Given the description of an element on the screen output the (x, y) to click on. 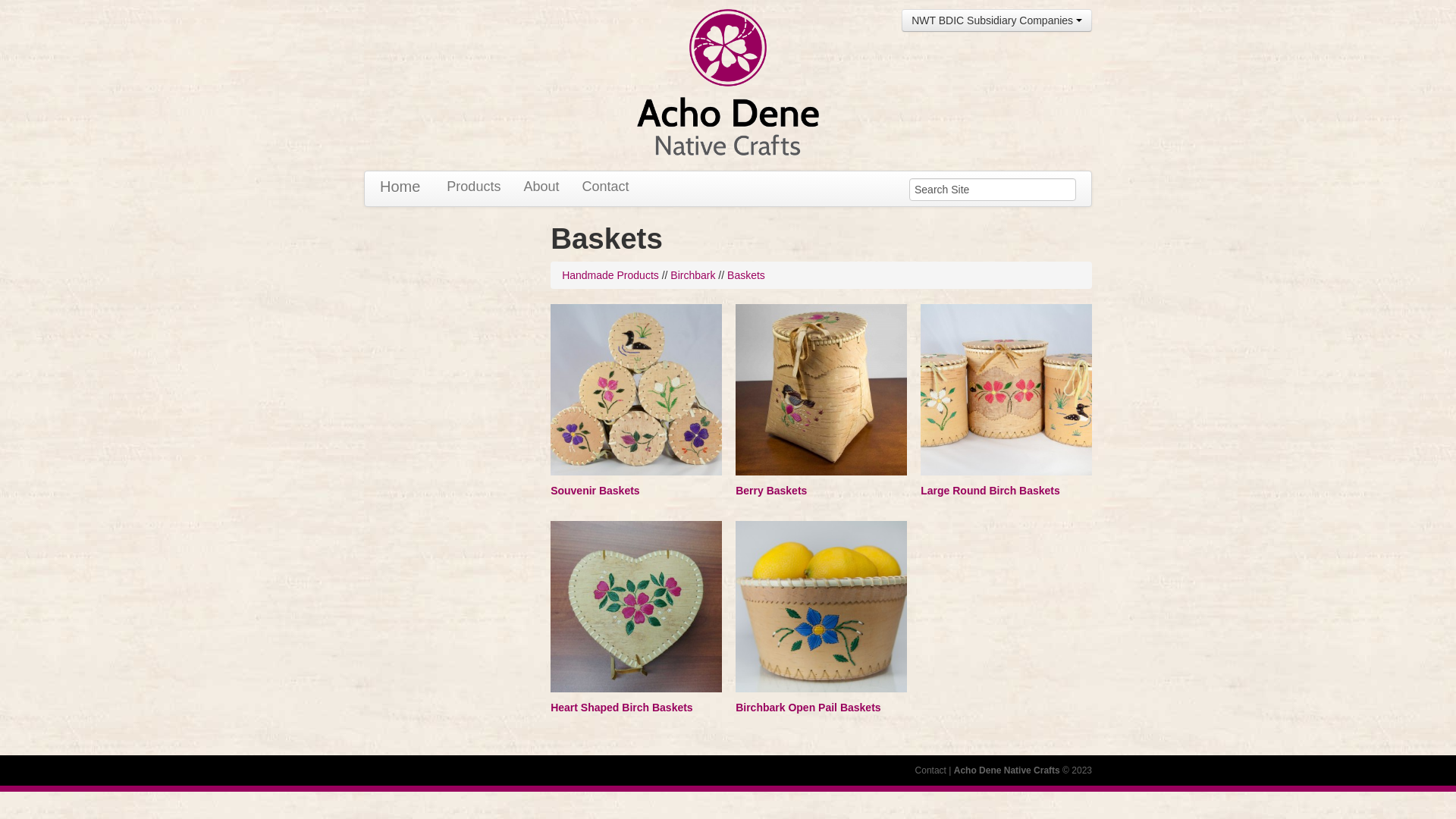
Baskets Element type: text (746, 275)
Contact Element type: text (605, 186)
Souvenir Baskets Element type: text (595, 490)
Large Round Birch Baskets Element type: text (990, 490)
Contact Element type: text (930, 770)
Berry Baskets Element type: text (770, 490)
Home Element type: text (399, 186)
Birchbark Open Pail Baskets Element type: text (807, 707)
About Element type: text (540, 186)
Acho Dene Native Crafts Element type: text (1006, 770)
Birchbark Element type: text (692, 275)
Products Element type: text (473, 186)
Heart Shaped Birch Baskets Element type: text (621, 707)
NWT BDIC Subsidiary Companies Element type: text (996, 20)
Handmade Products Element type: text (609, 275)
